Given the description of an element on the screen output the (x, y) to click on. 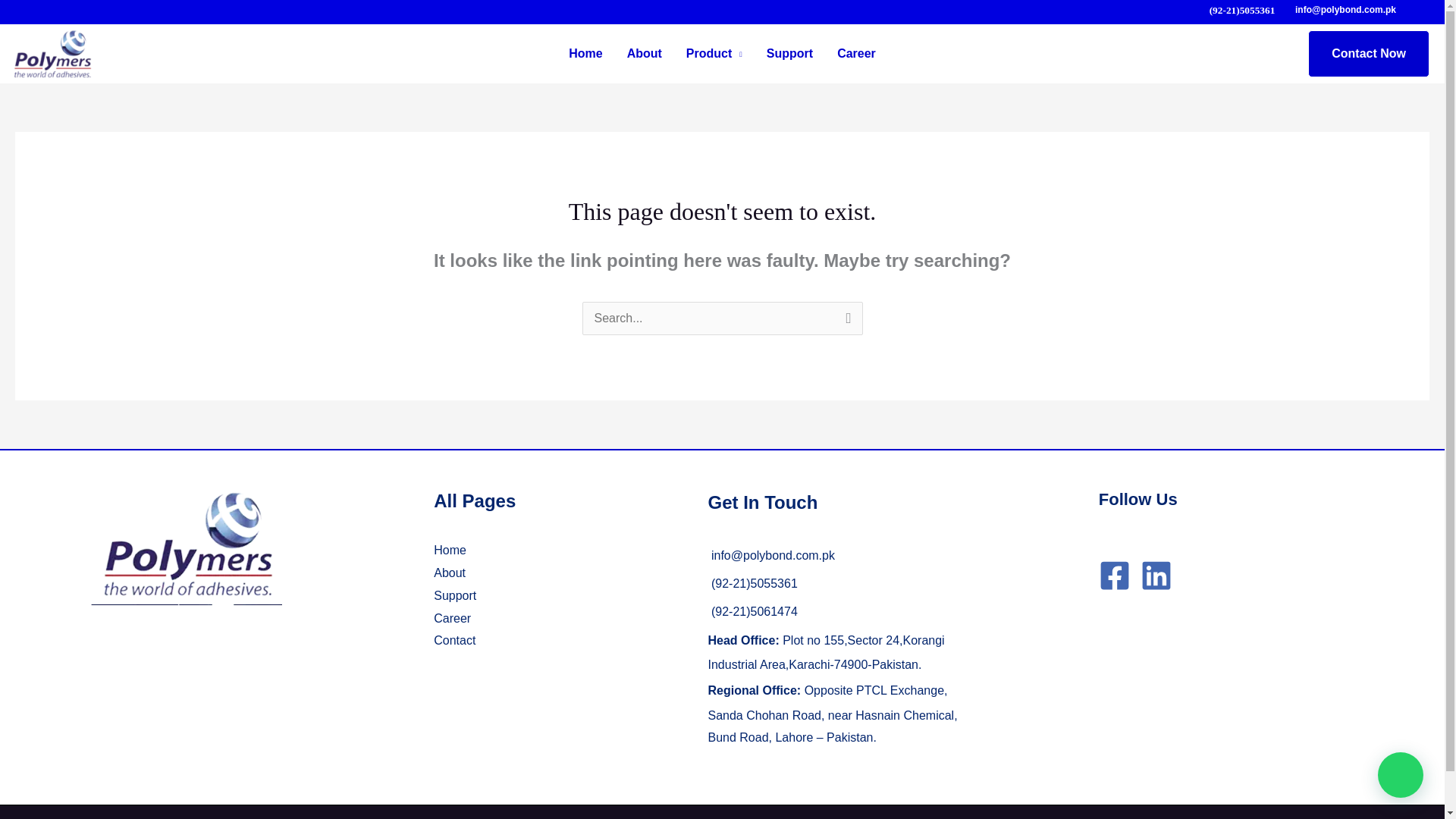
Career (856, 53)
Support (454, 594)
About (644, 53)
Support (789, 53)
Home (585, 53)
Home (449, 549)
Product (714, 53)
Contact Now (1368, 53)
About (449, 572)
